Given the description of an element on the screen output the (x, y) to click on. 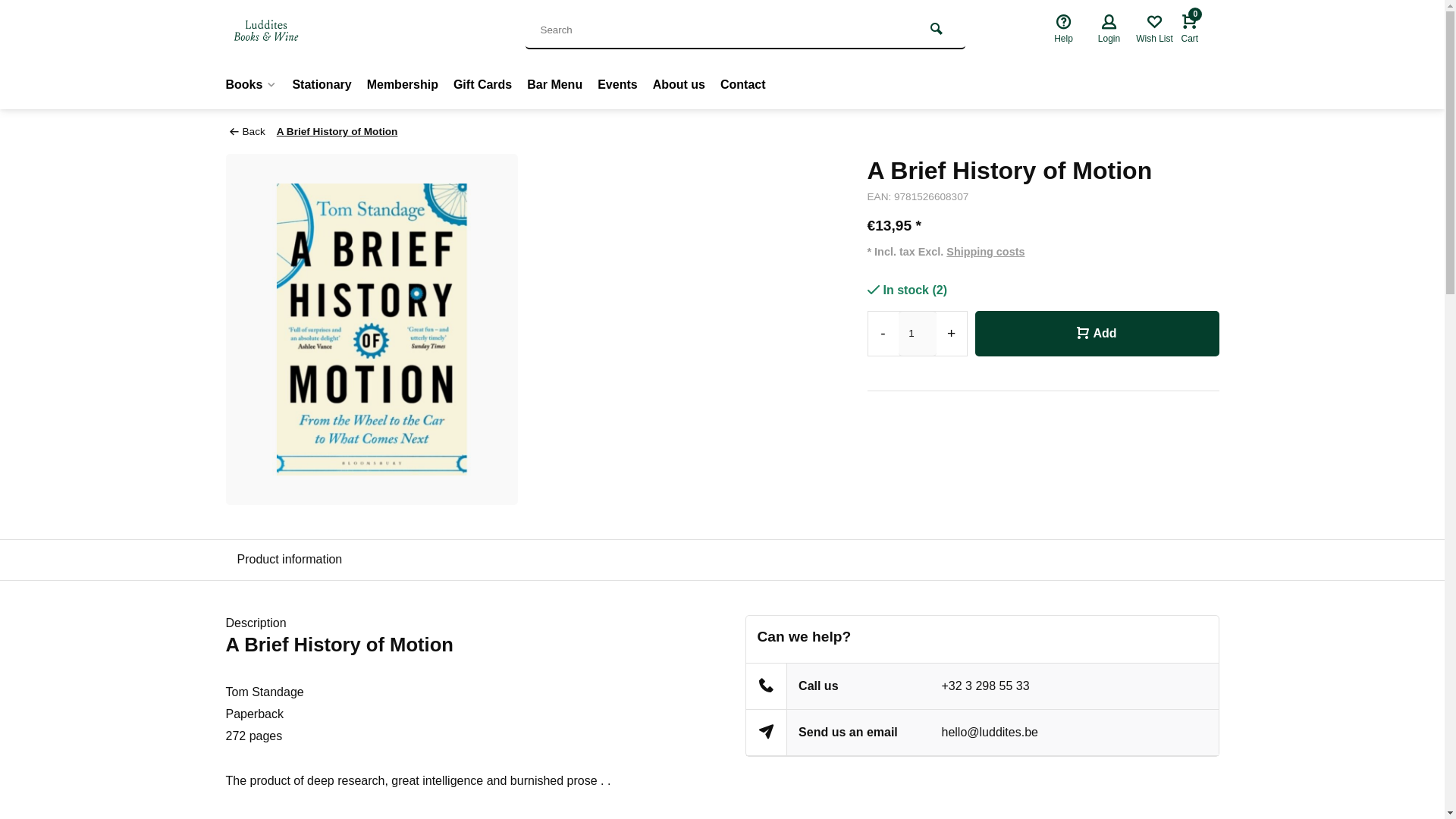
Login (1109, 30)
Wish List (1154, 30)
Books (255, 84)
Books (255, 84)
Help (1064, 30)
